Given the description of an element on the screen output the (x, y) to click on. 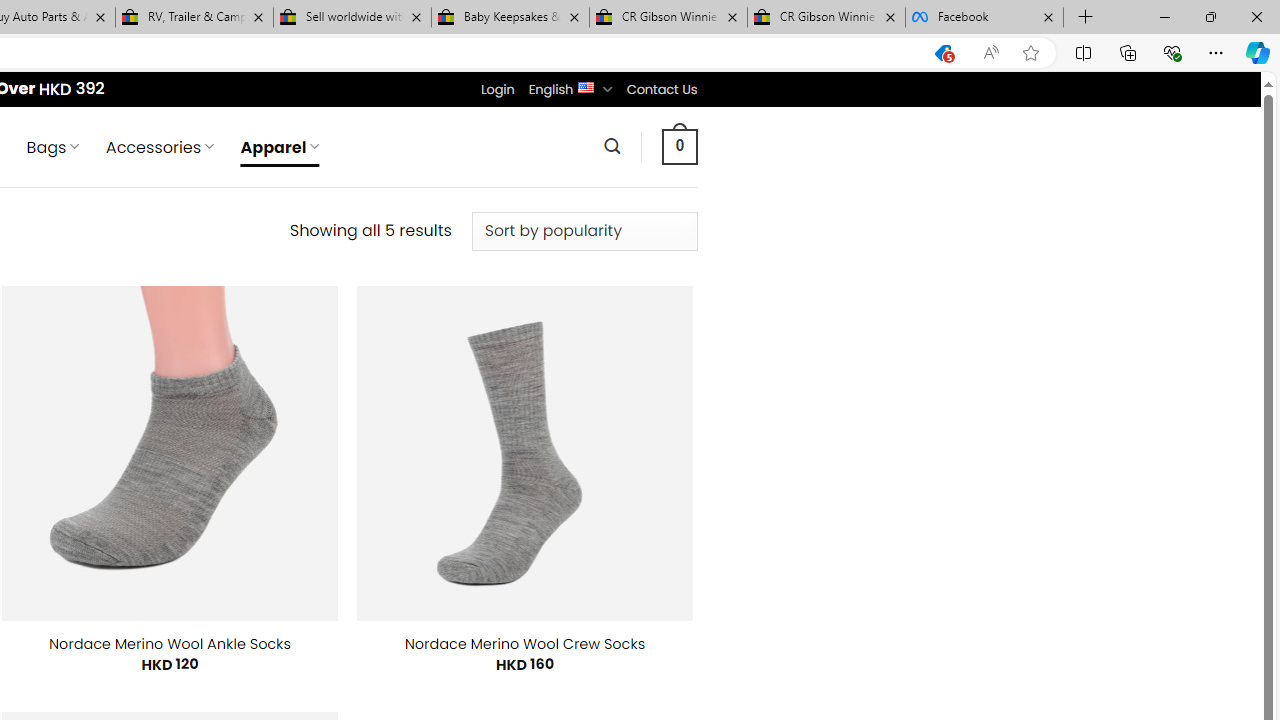
Shop order (584, 231)
English (586, 86)
